Given the description of an element on the screen output the (x, y) to click on. 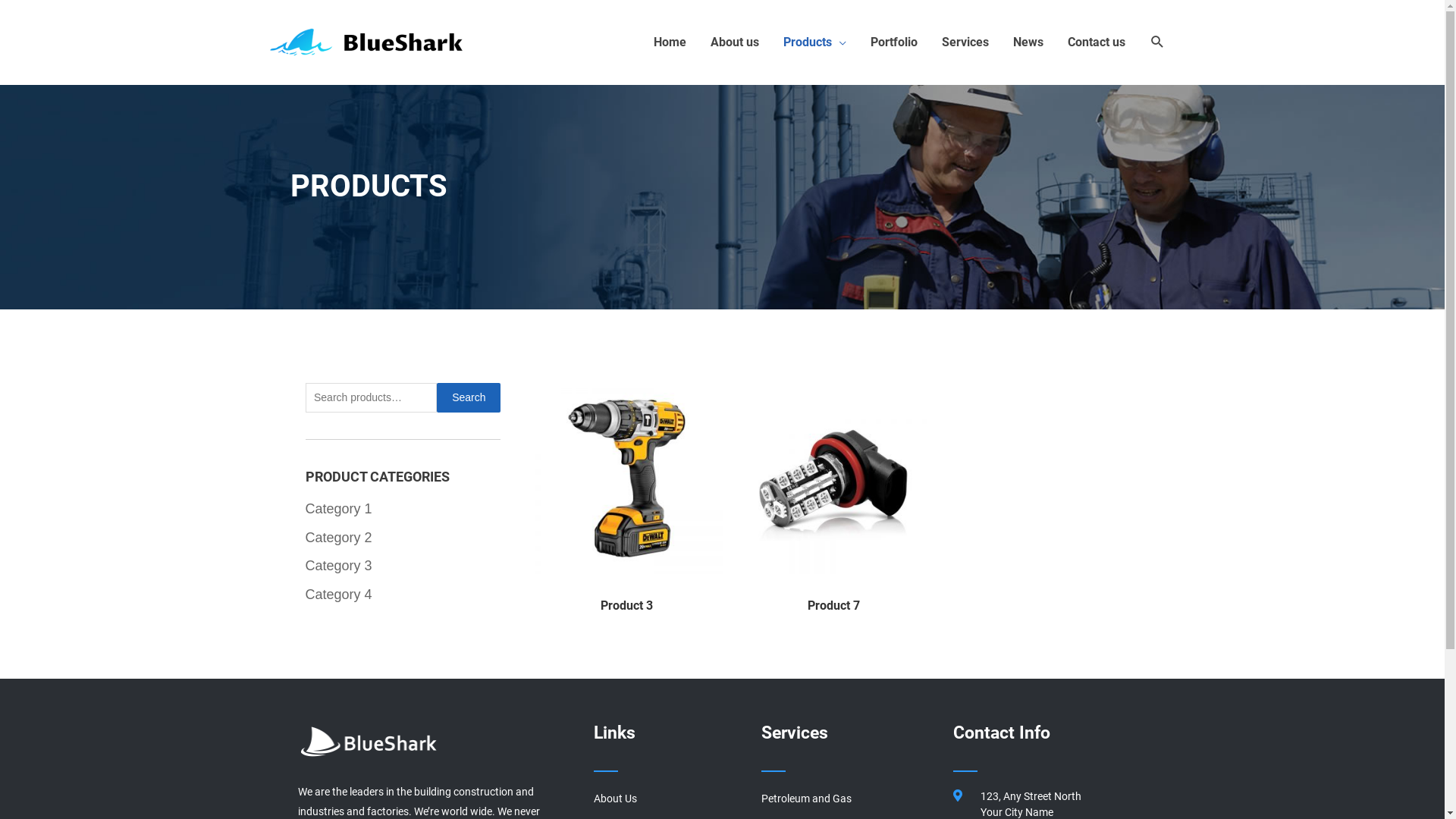
Product 7 Element type: text (833, 606)
Services Element type: text (965, 42)
Product 3 Element type: text (626, 606)
Category 4 Element type: text (337, 594)
Portfolio Element type: text (893, 42)
Category 3 Element type: text (337, 565)
Category 1 Element type: text (337, 508)
News Element type: text (1028, 42)
Products Element type: text (813, 42)
About us Element type: text (733, 42)
Contact us Element type: text (1096, 42)
Category 2 Element type: text (337, 537)
Home Element type: text (669, 42)
Search Element type: text (468, 397)
